Given the description of an element on the screen output the (x, y) to click on. 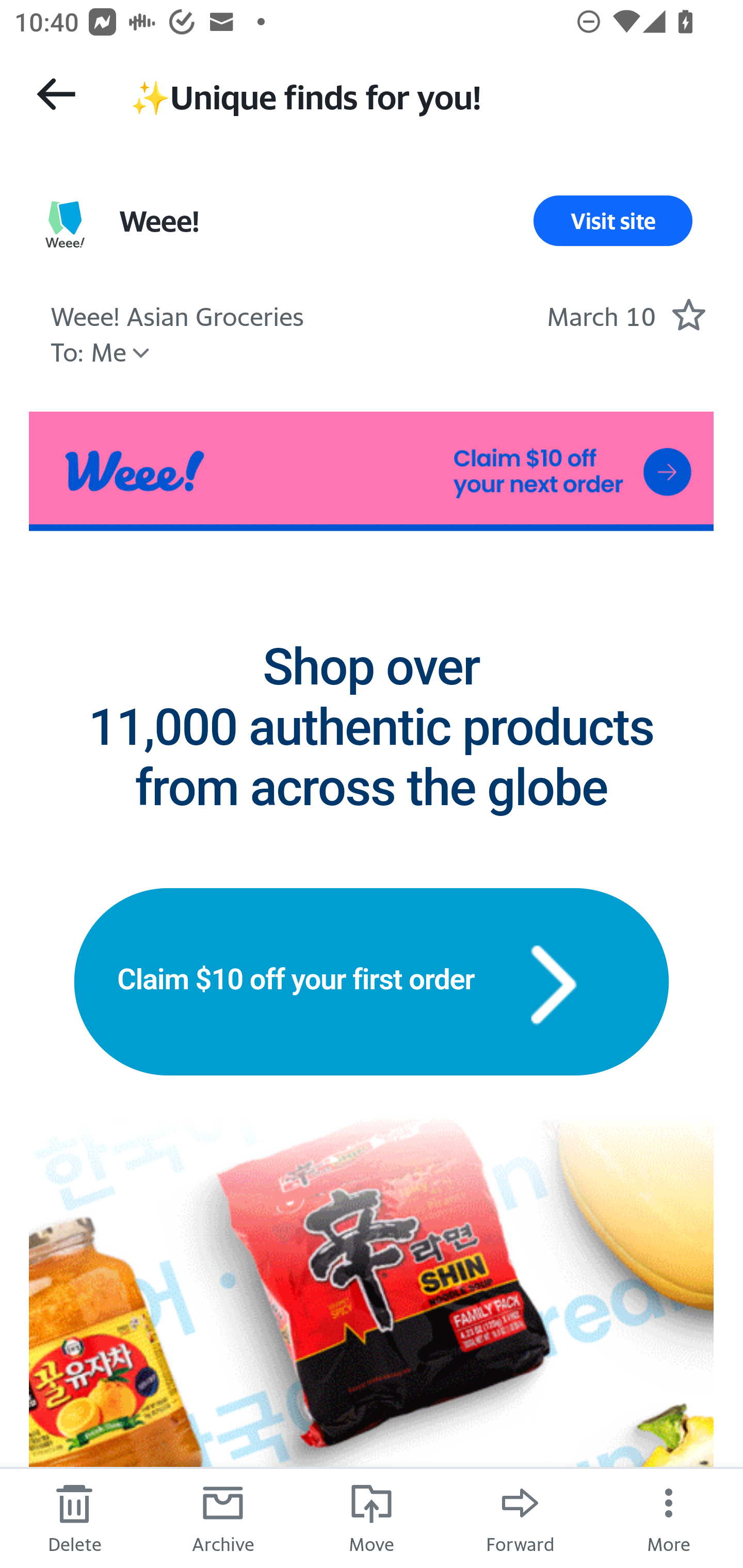
Back (55, 93)
✨Unique finds for you! (418, 94)
View all messages from sender (64, 225)
Visit site Visit Site Link (612, 221)
Weee! Sender Weee! (158, 220)
Weee! Asian Groceries Sender Weee! Asian Groceries (176, 314)
Mark as starred. (688, 314)
click?upn=u001 (371, 470)
carat (553, 980)
Delete (74, 1517)
Archive (222, 1517)
Move (371, 1517)
Forward (519, 1517)
More (668, 1517)
